Given the description of an element on the screen output the (x, y) to click on. 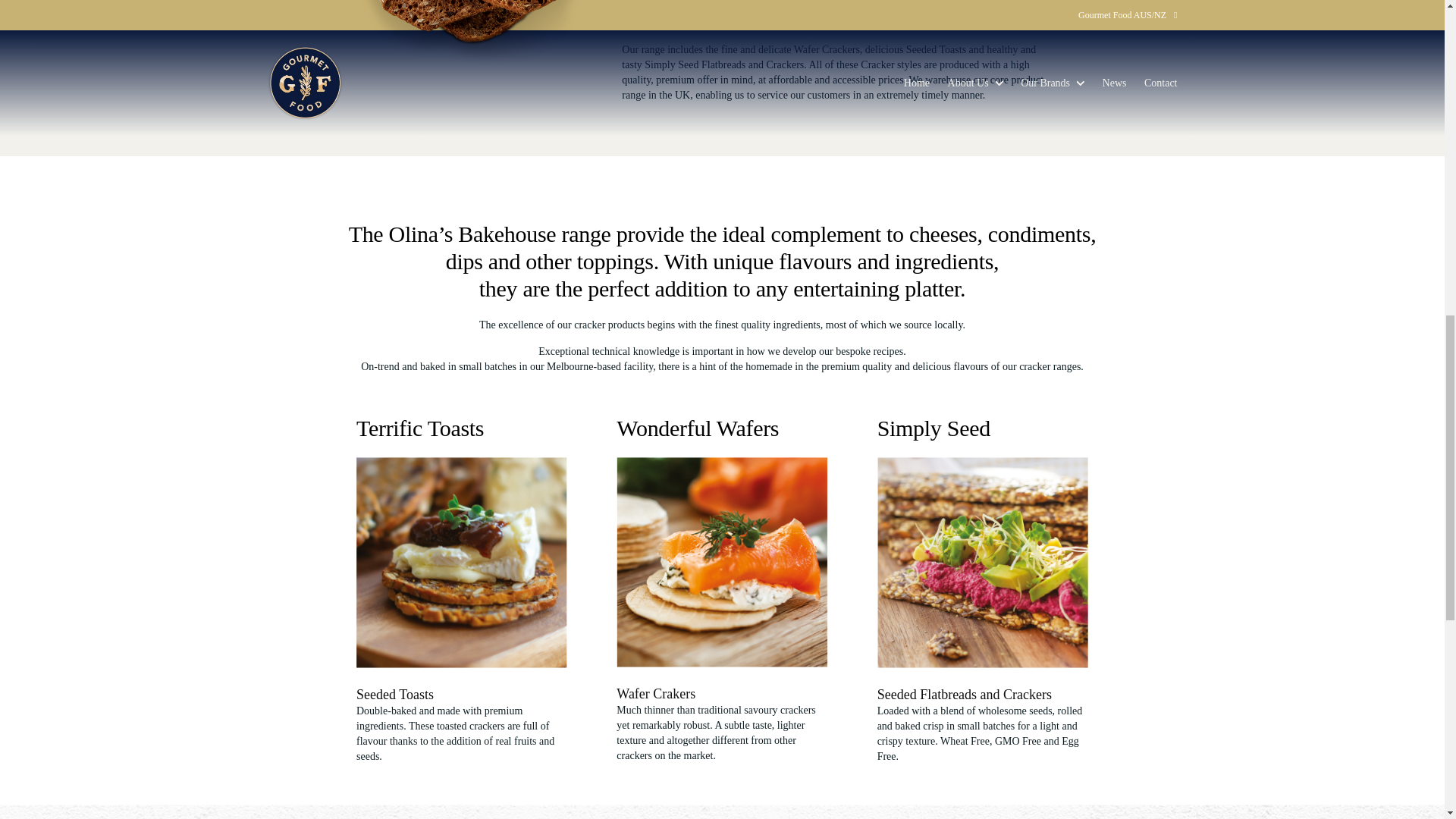
Vector-Smart-Object (461, 561)
Vector-Smart-Object-1 (982, 561)
homepage-crackers (470, 38)
Vector-Smart-Object-2 (721, 561)
